Given the description of an element on the screen output the (x, y) to click on. 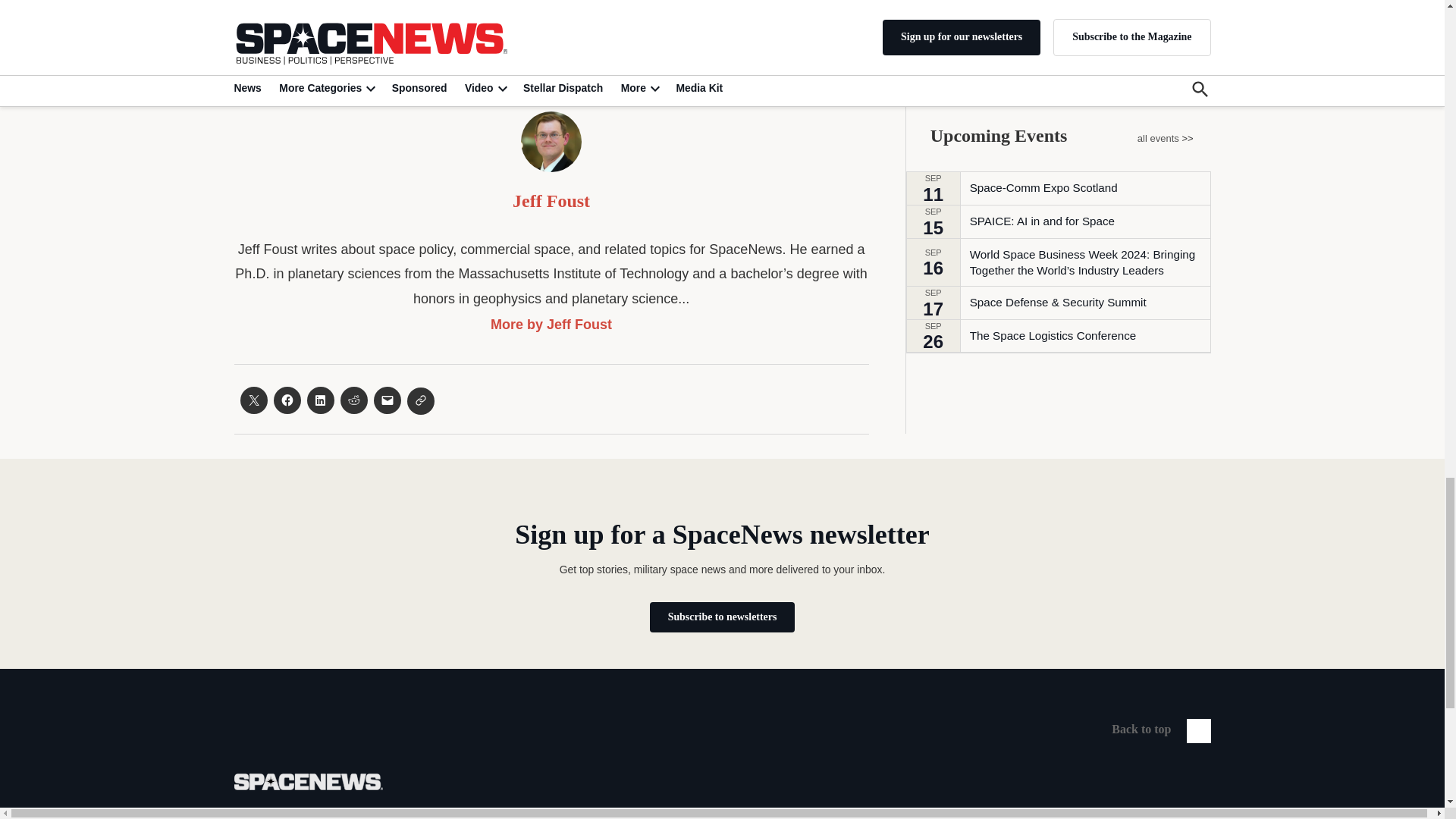
Click to share on Facebook (286, 400)
Click to share on LinkedIn (319, 400)
Click to share on X (253, 400)
Click to share on Clipboard (419, 400)
Click to email a link to a friend (386, 400)
Click to share on Reddit (352, 400)
